Given the description of an element on the screen output the (x, y) to click on. 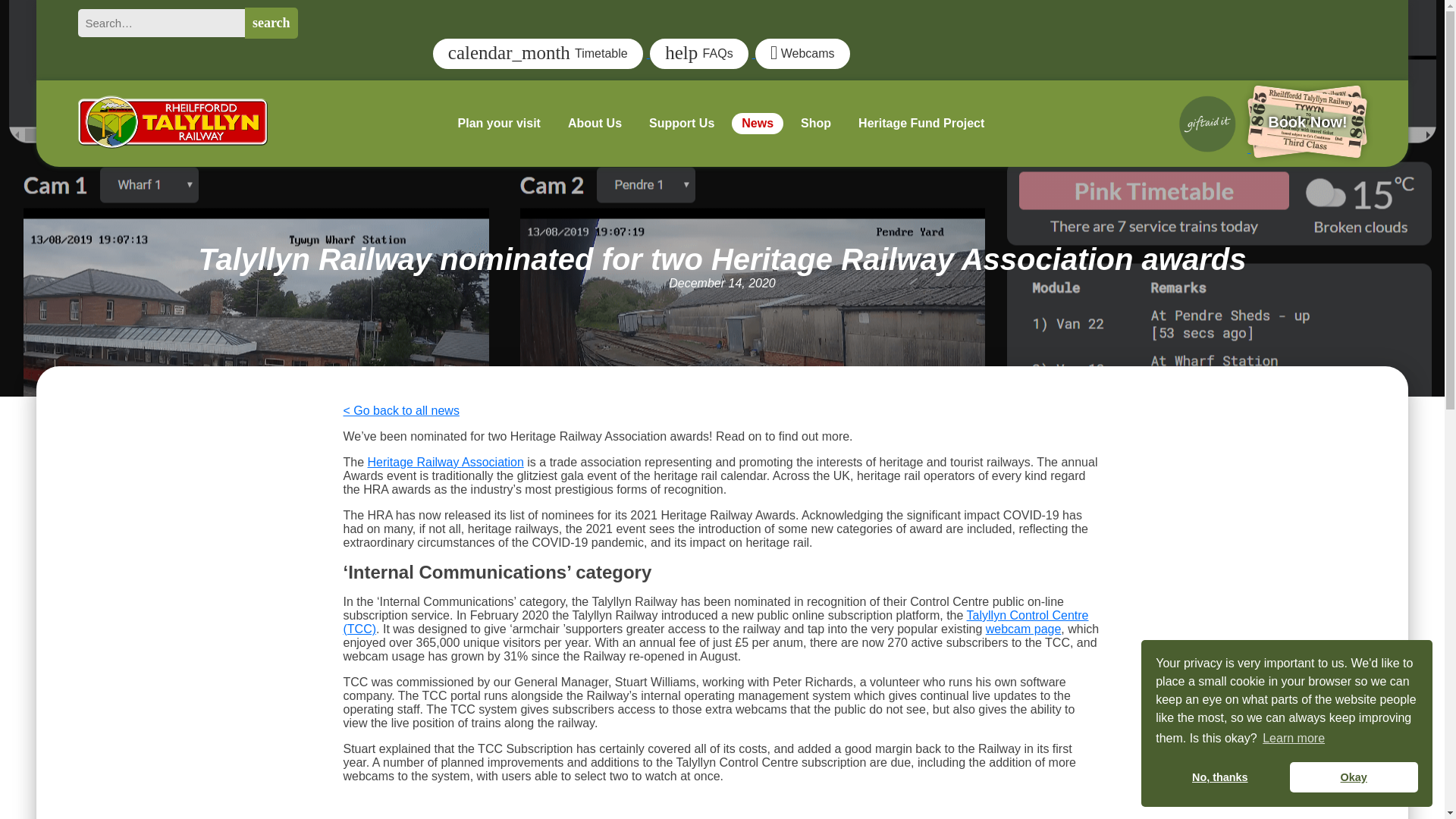
search (271, 22)
News (757, 122)
search (271, 22)
About Us (594, 122)
search (271, 22)
Shop (815, 122)
Plan your visit (499, 122)
help FAQs (702, 52)
December 14, 2020 (722, 282)
Support Us (681, 122)
Heritage Fund Project (920, 122)
Book Now! (1270, 147)
